Given the description of an element on the screen output the (x, y) to click on. 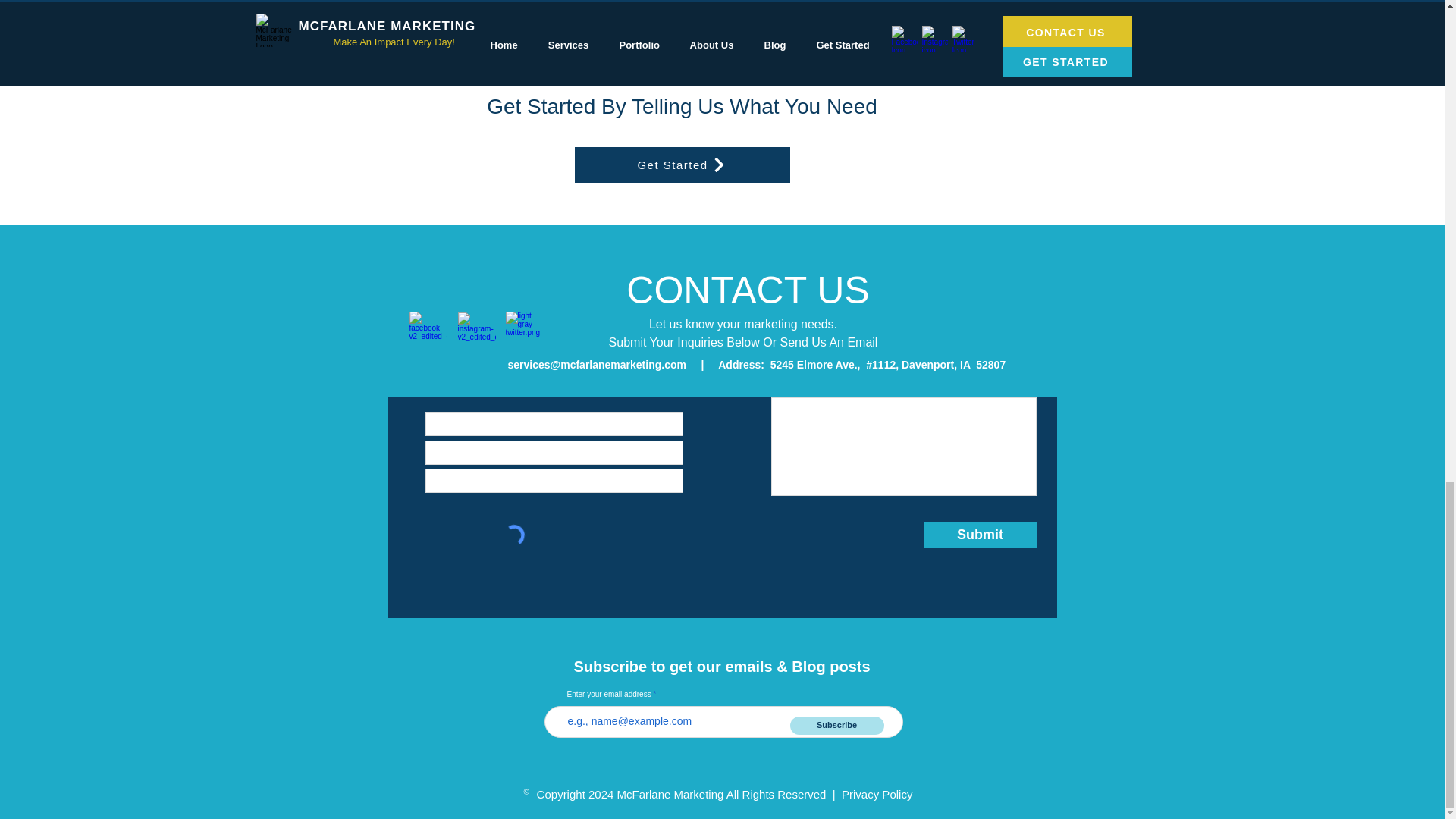
Submit (979, 534)
Get Started (681, 164)
Subscribe (836, 725)
Privacy Policy (876, 793)
